Given the description of an element on the screen output the (x, y) to click on. 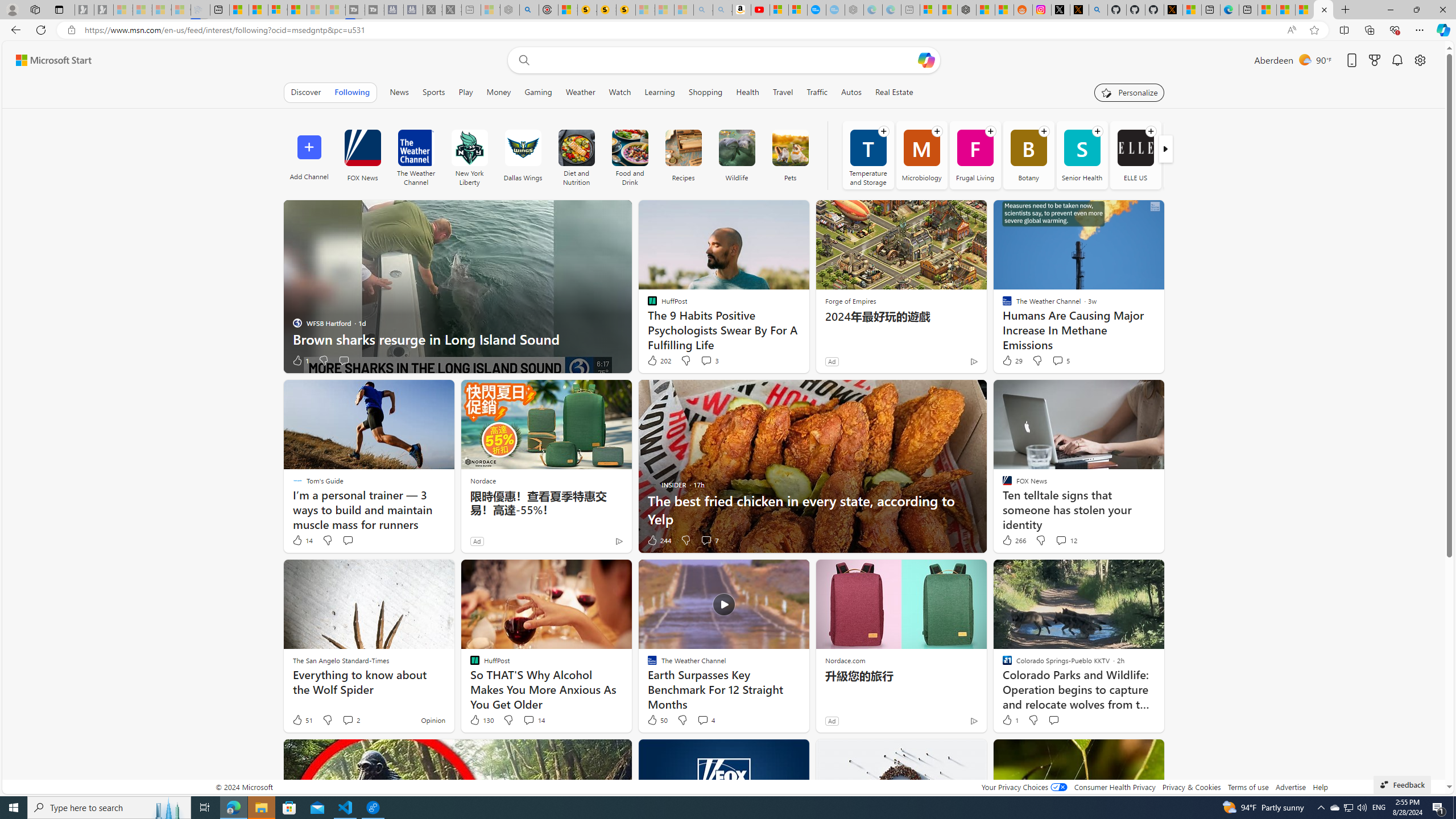
Shanghai, China Weather trends | Microsoft Weather (1004, 9)
Botany (1028, 155)
Add Channel (308, 155)
Traffic (816, 92)
Personalize your feed" (1129, 92)
Health (747, 92)
Dislike (1032, 719)
Overview (277, 9)
